Given the description of an element on the screen output the (x, y) to click on. 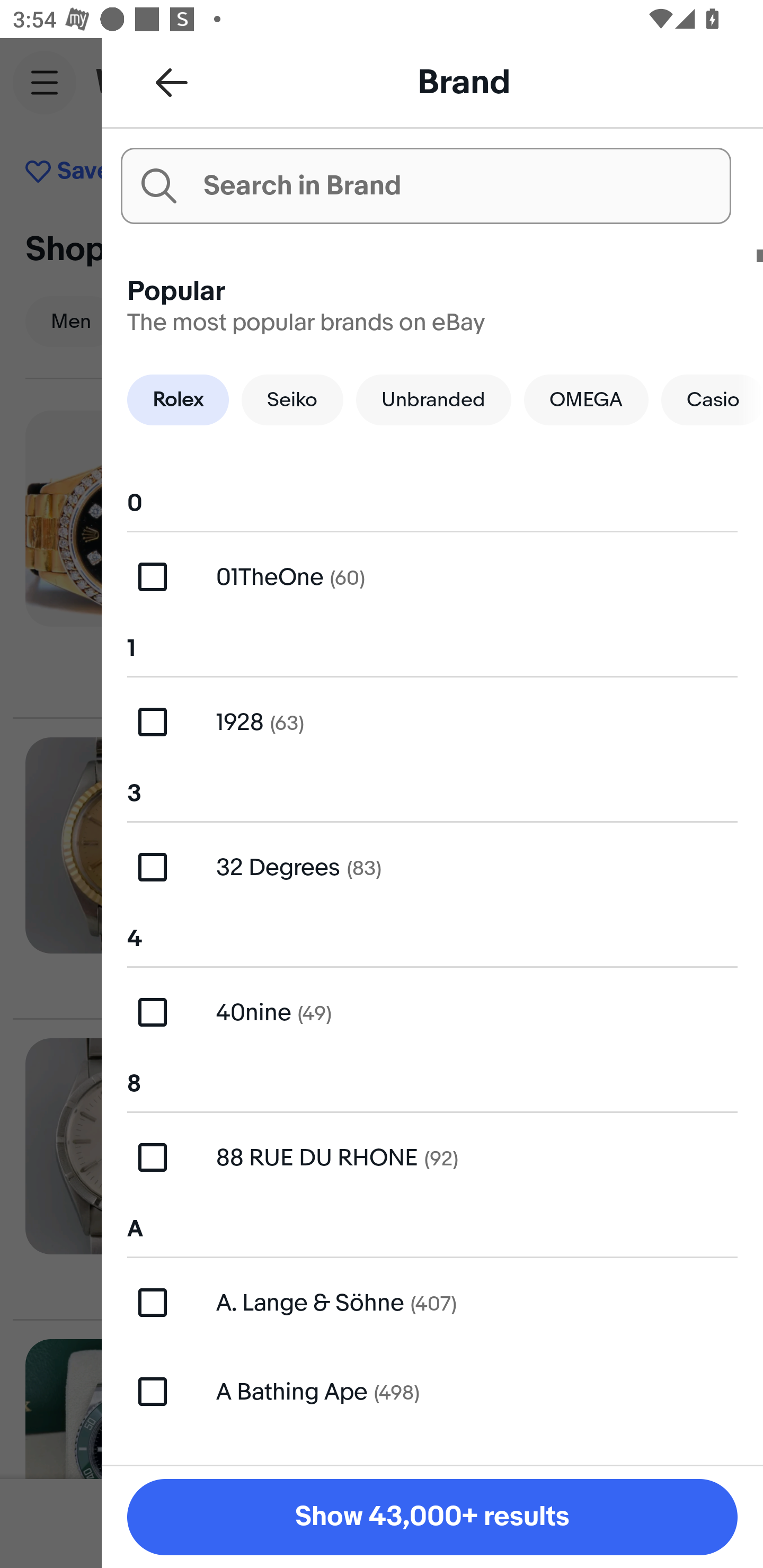
Back to all refinements (171, 81)
Search in Brand (425, 185)
Rolex (177, 399)
Seiko (292, 399)
Unbranded (433, 399)
OMEGA (586, 399)
Casio (712, 399)
01TheOne (60) (432, 576)
1928 (63) (432, 721)
32 Degrees (83) (432, 867)
40nine (49) (432, 1011)
88 RUE DU RHONE (92) (432, 1157)
A. Lange & Söhne (407) (432, 1301)
A Bathing Ape (498) (432, 1391)
Show 43,000+ results (432, 1516)
